Given the description of an element on the screen output the (x, y) to click on. 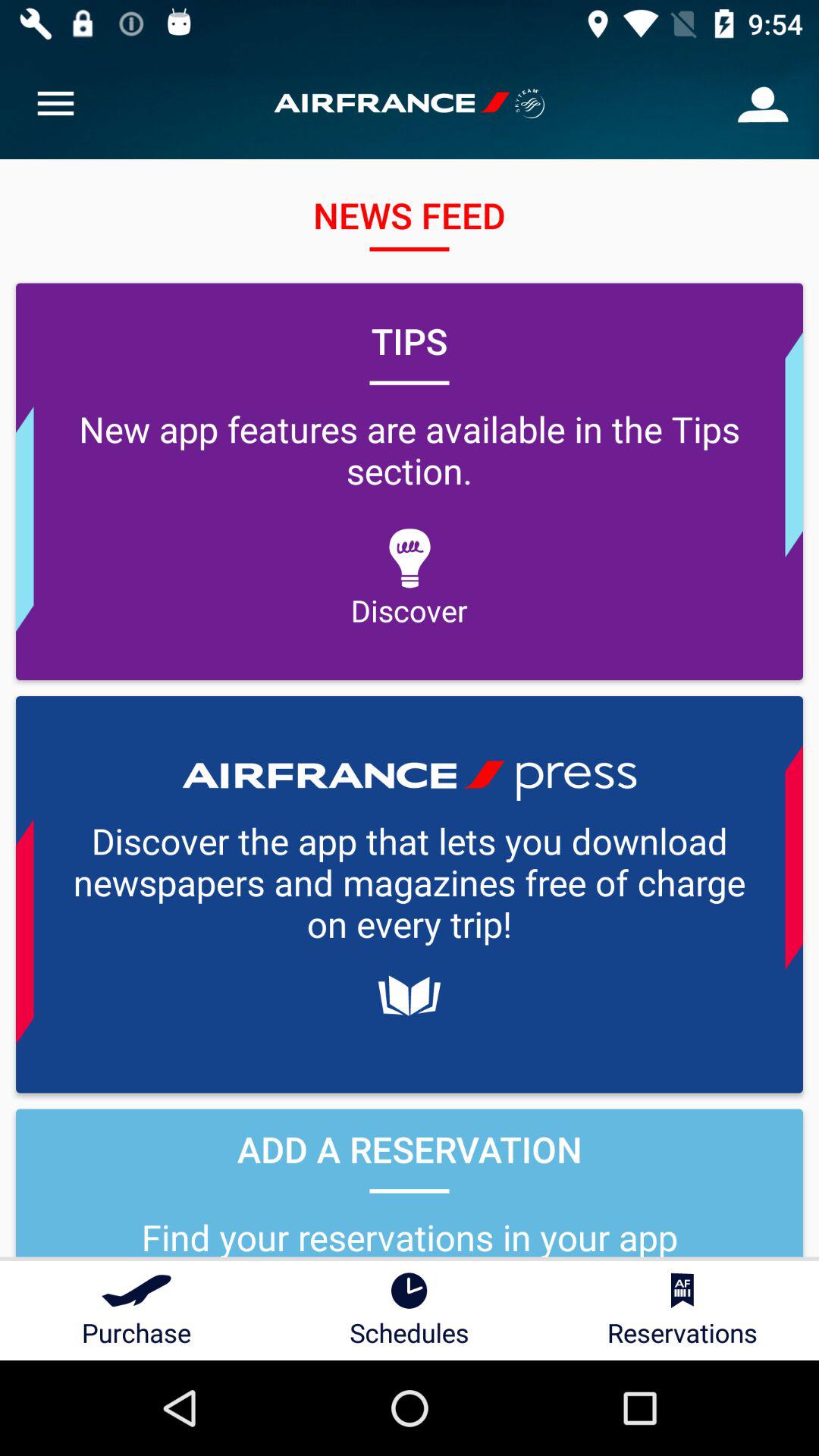
launch icon next to the purchase item (409, 1310)
